Given the description of an element on the screen output the (x, y) to click on. 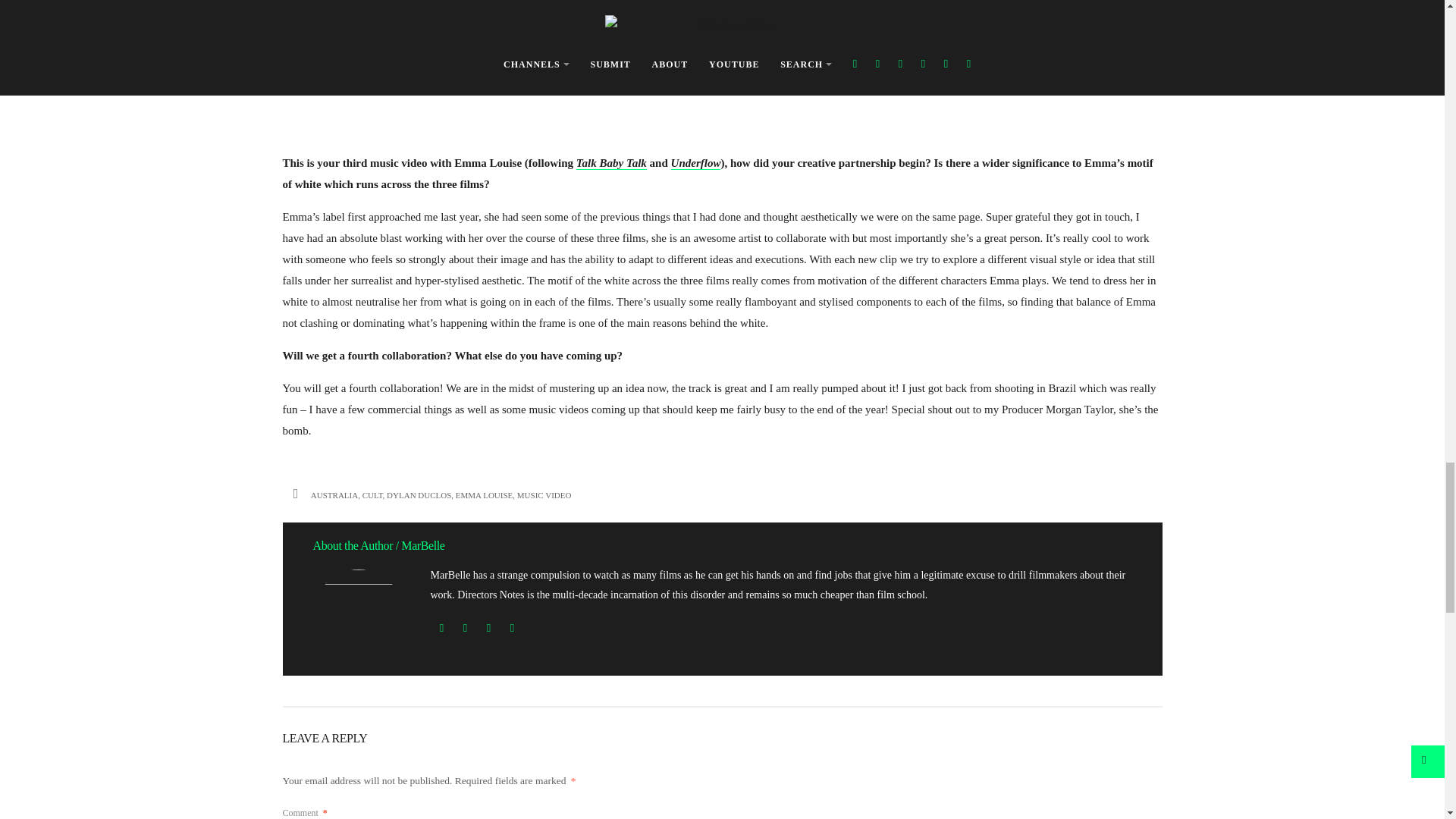
Underflow (695, 163)
EMMA LOUISE (483, 494)
Talk Baby Talk (611, 163)
MarBelle (422, 545)
Posts by MarBelle (422, 545)
MUSIC VIDEO (544, 494)
AUSTRALIA (334, 494)
DYLAN DUCLOS (419, 494)
CULT (372, 494)
